Given the description of an element on the screen output the (x, y) to click on. 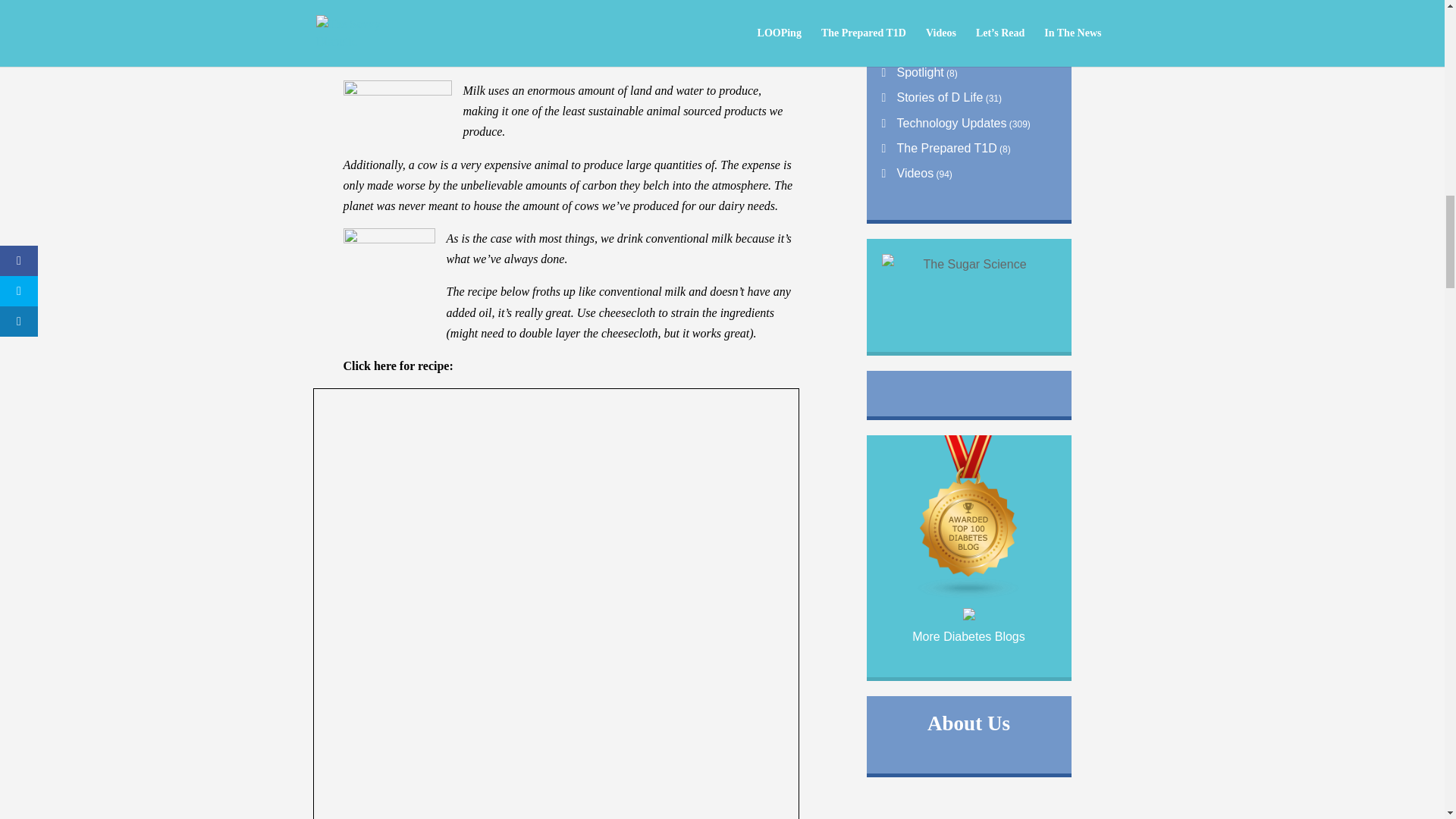
HomeRemediesForLife.com Best Blog 2017 (968, 615)
Diabetes blogs (968, 594)
The Sugar Science (967, 277)
